Given the description of an element on the screen output the (x, y) to click on. 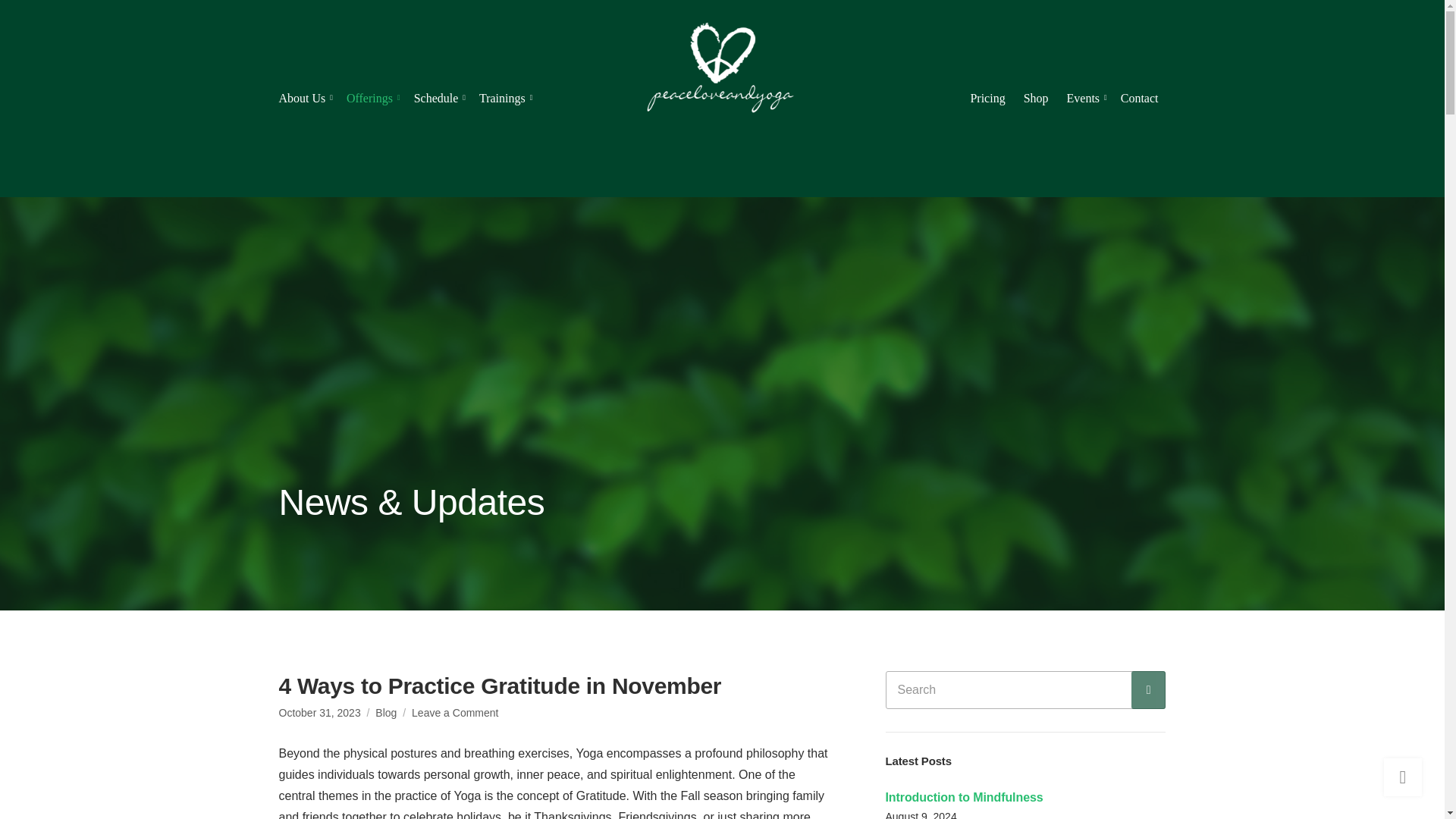
Offerings (371, 98)
Contact (454, 712)
Events (1139, 98)
Schedule (1084, 98)
Search (437, 98)
Blog (1148, 689)
About Us (385, 712)
Trainings (304, 98)
Pricing (503, 98)
